Given the description of an element on the screen output the (x, y) to click on. 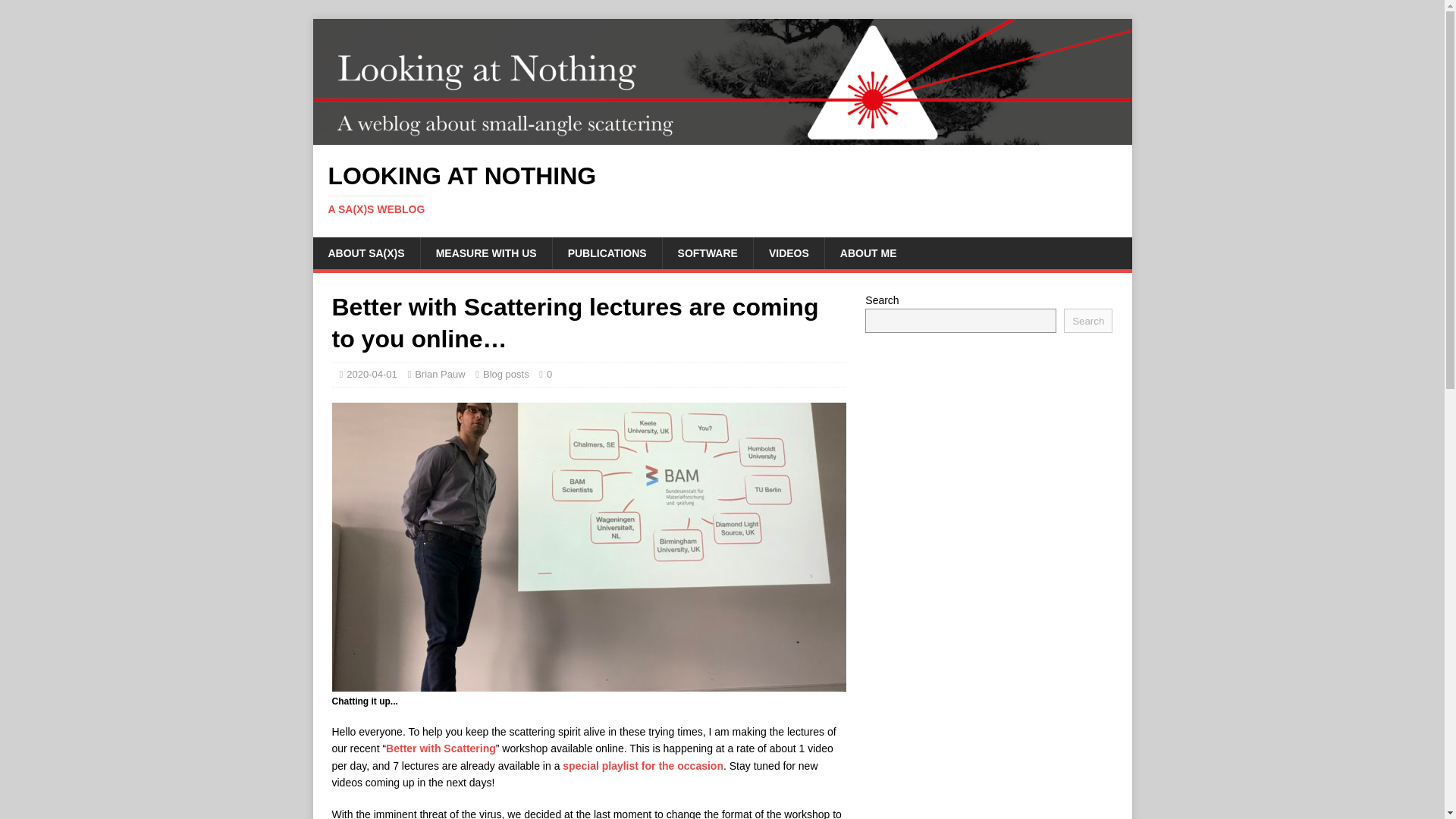
VIDEOS (788, 253)
MEASURE WITH US (485, 253)
Blog posts (506, 374)
Brian Pauw (439, 374)
PUBLICATIONS (606, 253)
special playlist for the occasion (642, 766)
Looking At Nothing (721, 189)
SOFTWARE (707, 253)
Better with Scattering (440, 748)
